Given the description of an element on the screen output the (x, y) to click on. 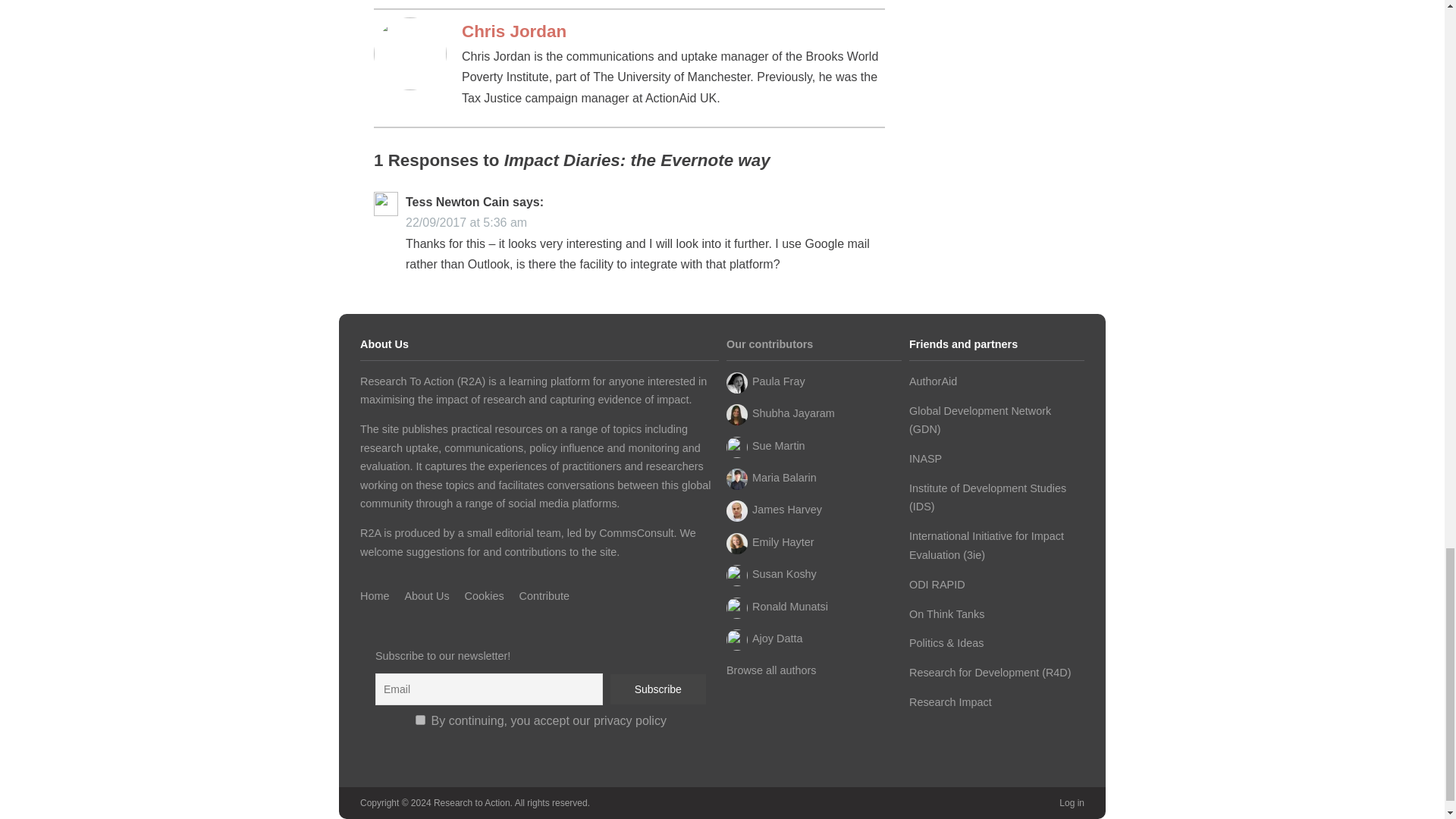
Subscribe (658, 689)
on (419, 719)
